Given the description of an element on the screen output the (x, y) to click on. 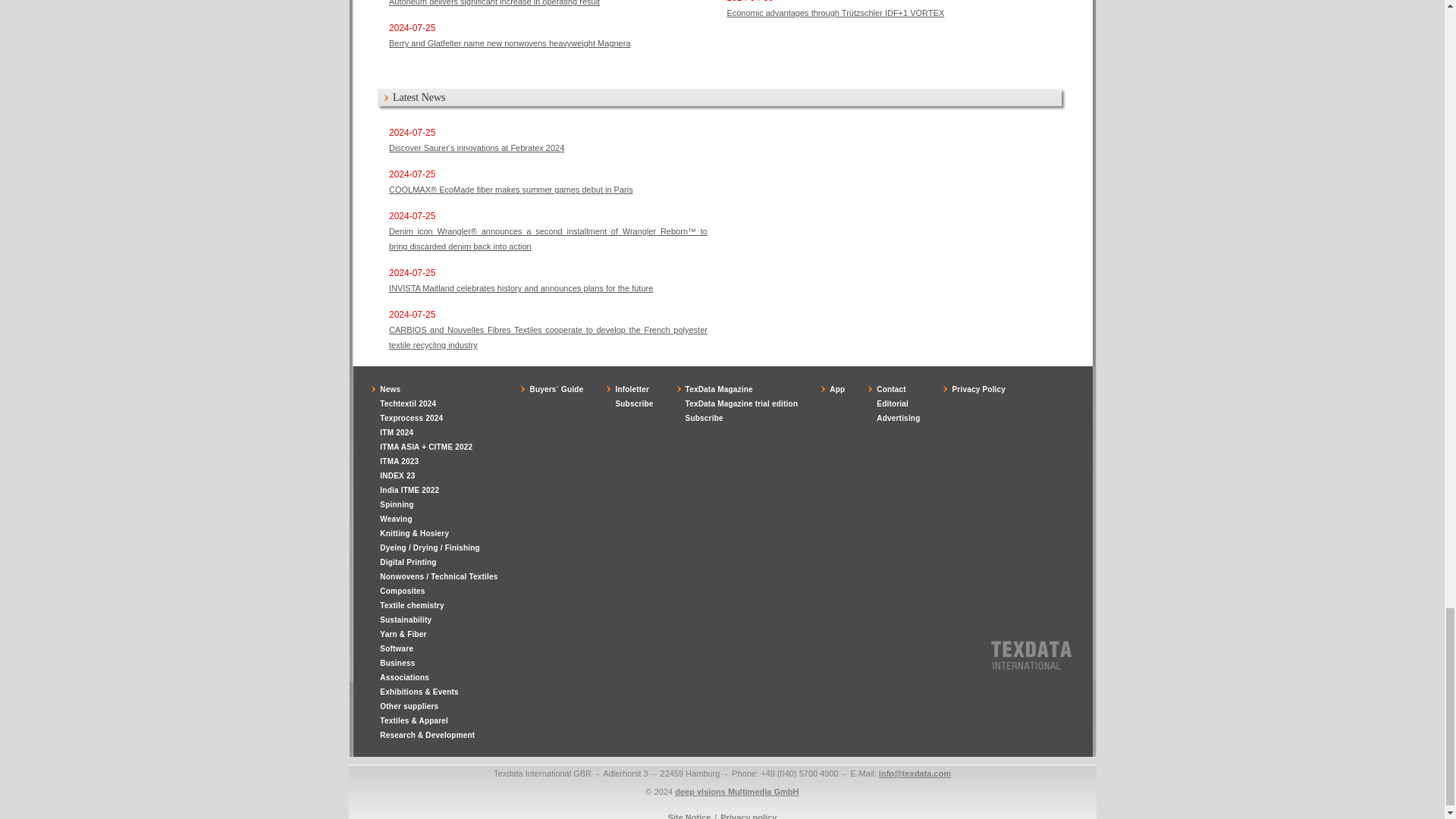
Spinning - Discover Saurer's innovations at Febratex 2024 (476, 147)
